Given the description of an element on the screen output the (x, y) to click on. 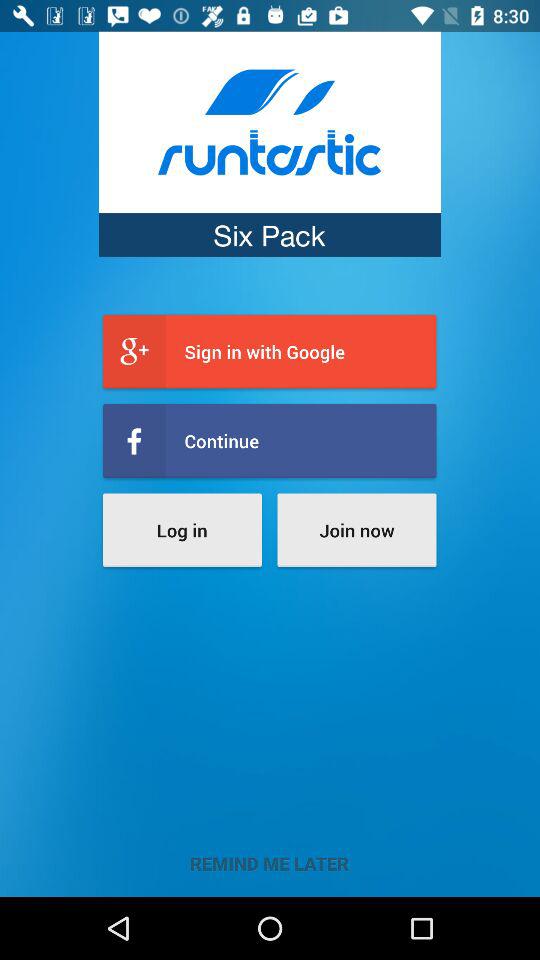
choose remind me later item (269, 863)
